Given the description of an element on the screen output the (x, y) to click on. 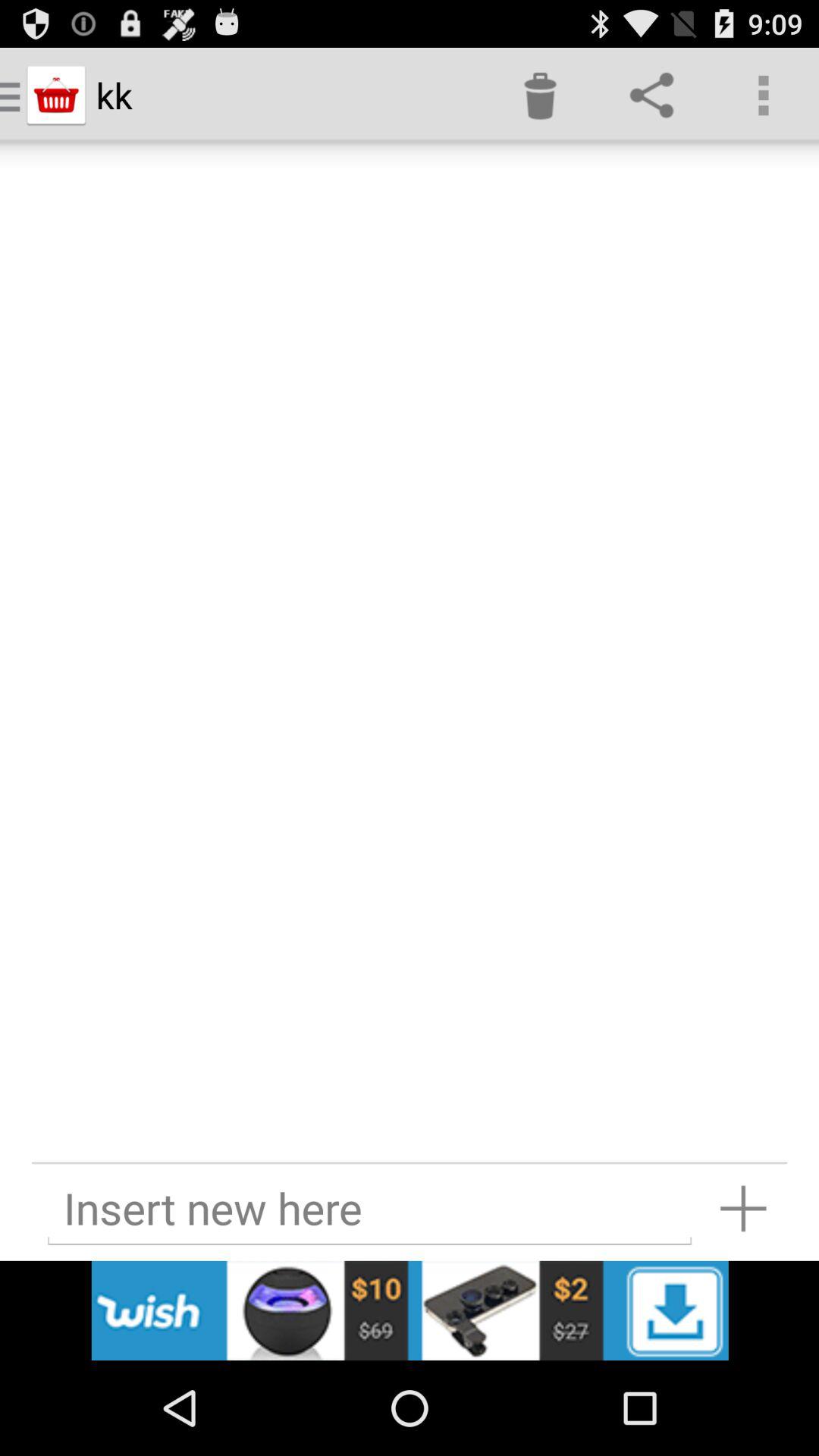
insert new here (369, 1208)
